Given the description of an element on the screen output the (x, y) to click on. 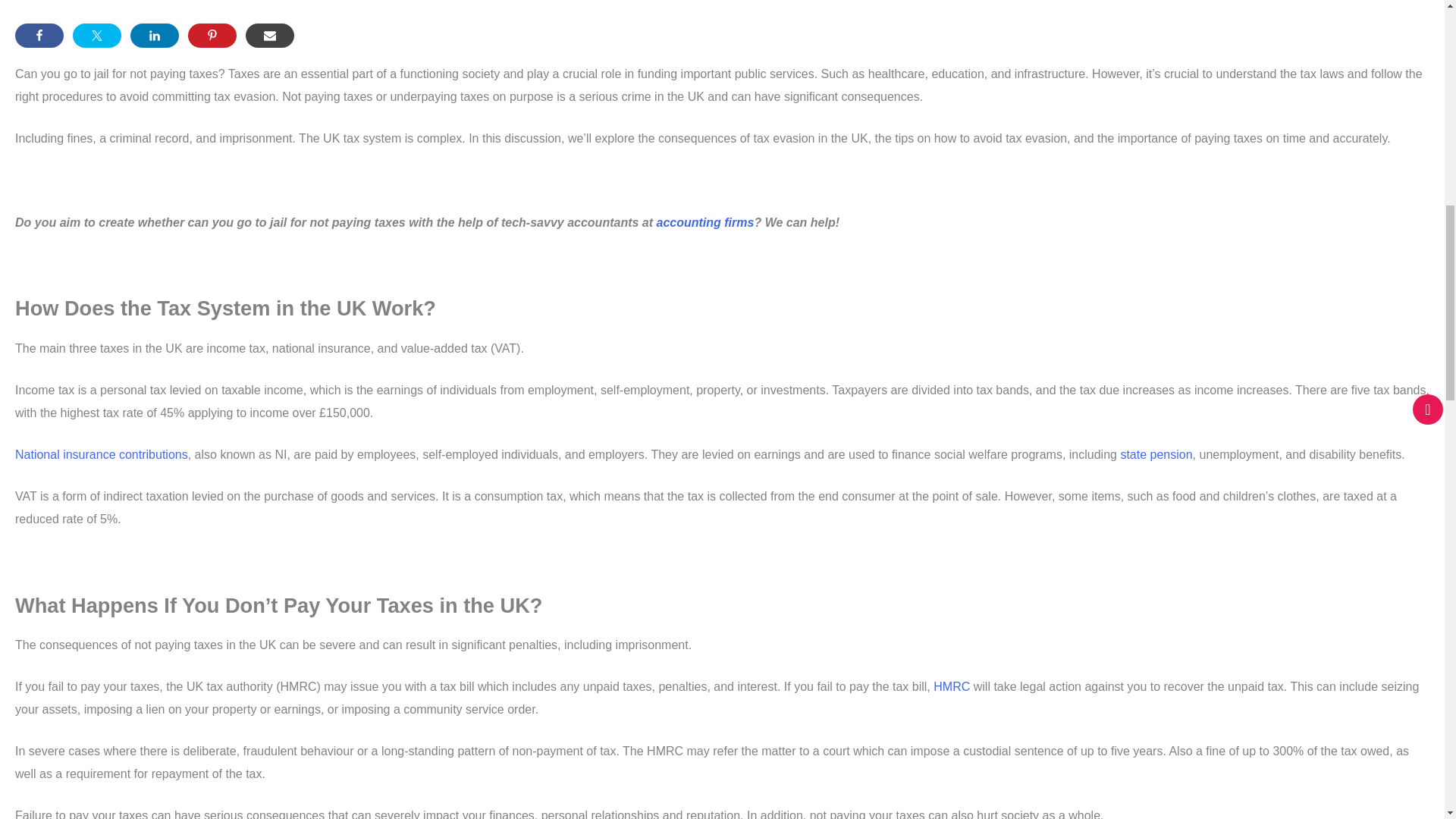
accounting firms (705, 222)
Share on Pinterest (211, 35)
Share on LinkedIn (155, 35)
Share on Twitter (96, 35)
Share on Facebook (39, 35)
National insurance contributions (100, 454)
HMRC (951, 686)
state pension (1155, 454)
Share via Email (270, 35)
